Given the description of an element on the screen output the (x, y) to click on. 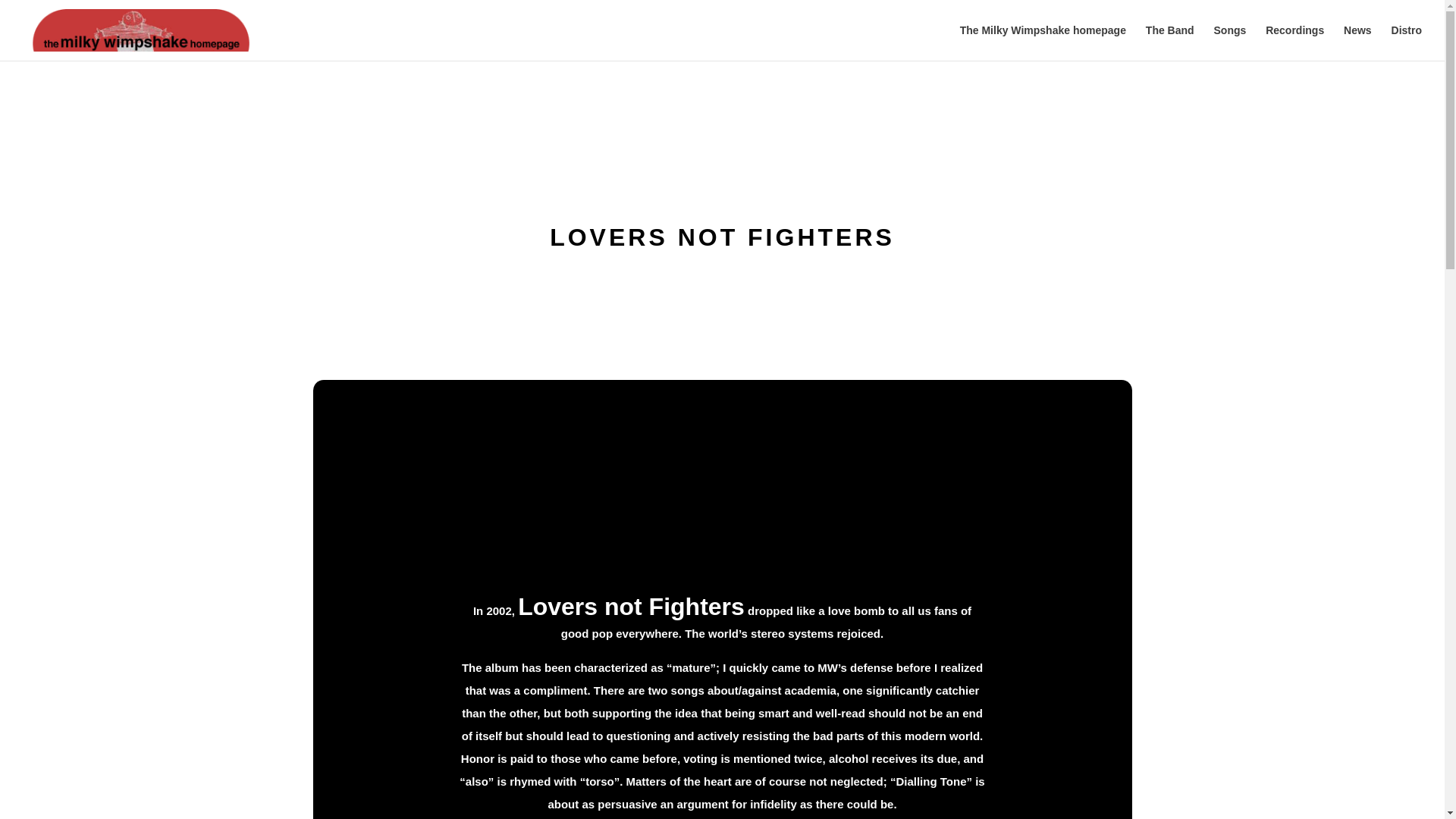
The Band (1169, 42)
Recordings (1294, 42)
Songs (1229, 42)
The Milky Wimpshake homepage (1042, 42)
